Given the description of an element on the screen output the (x, y) to click on. 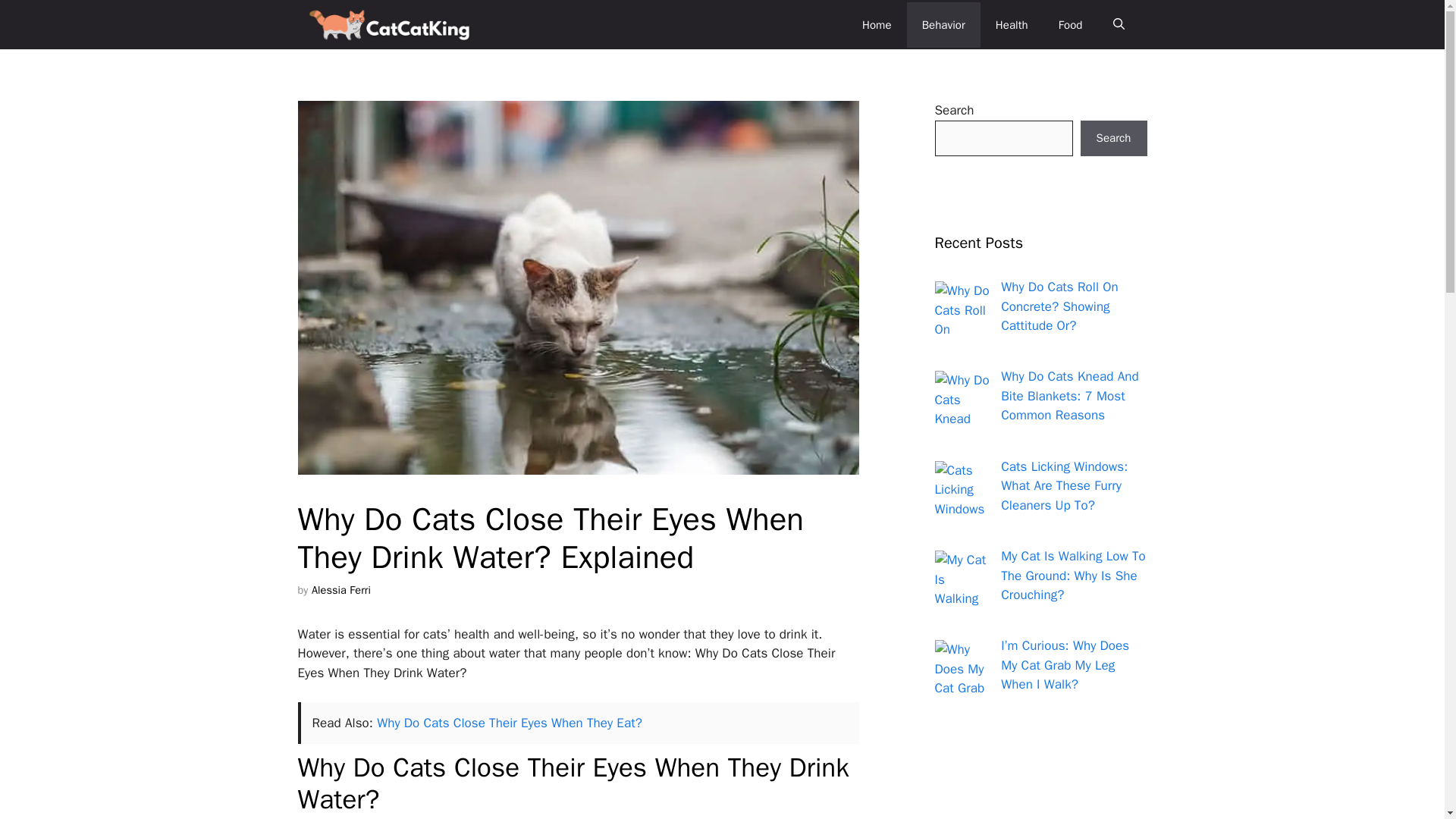
Home (877, 23)
Why Do Cats Roll On Concrete? Showing Cattitude Or? (1059, 306)
Alessia Ferri (341, 590)
Cats Licking Windows: What Are These Furry Cleaners Up To? (1063, 485)
My Cat Is Walking Low To The Ground: Why Is She Crouching? (1073, 574)
Why Do Cats Knead And Bite Blankets: 7 Most Common Reasons (1069, 395)
View all posts by Alessia Ferri (341, 590)
Food (1070, 23)
Cat Care King (390, 24)
Health (1011, 23)
Why Do Cats Close Their Eyes When They Eat? (509, 722)
Search (1113, 137)
Behavior (943, 23)
